Given the description of an element on the screen output the (x, y) to click on. 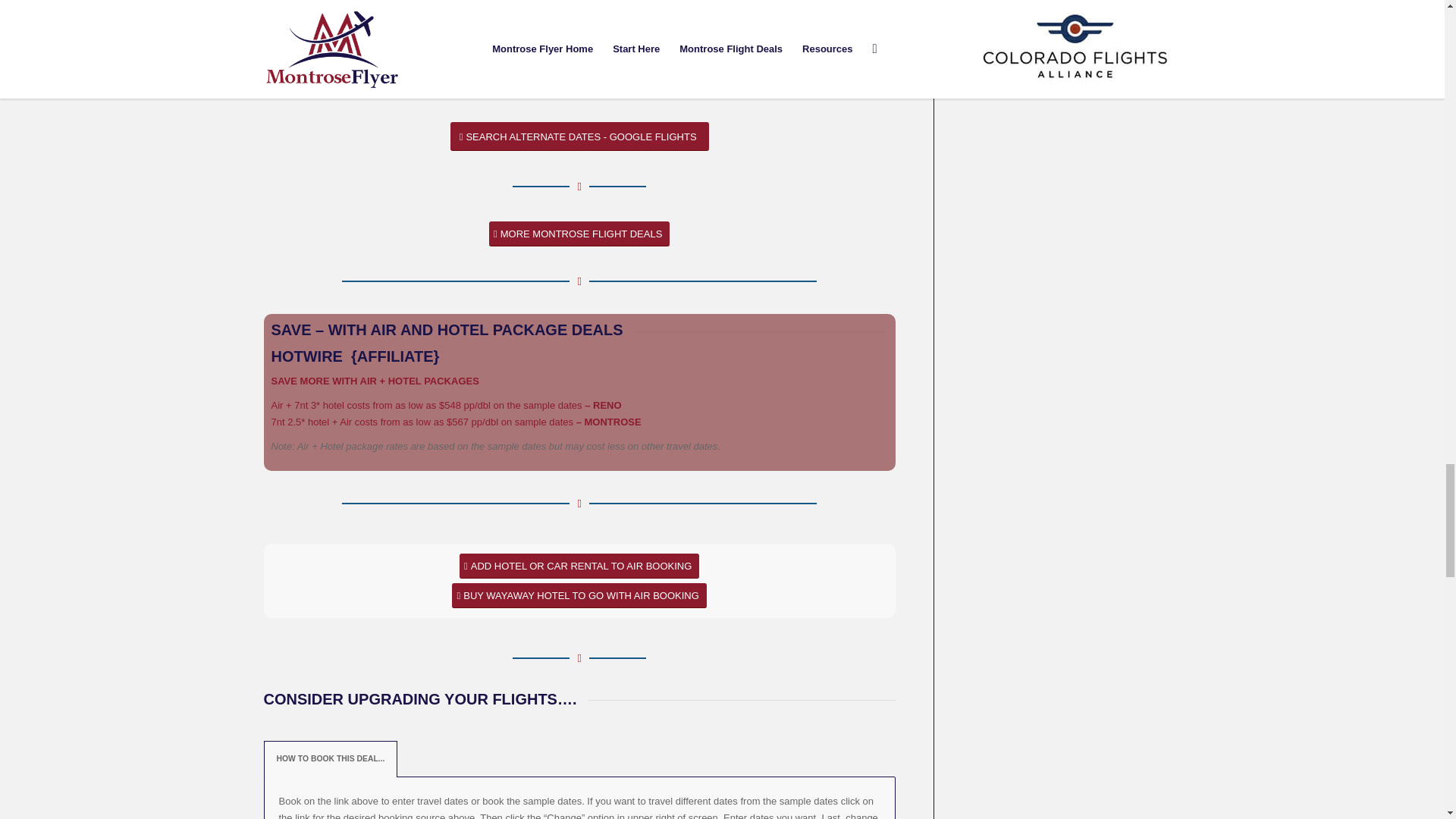
UNITED PURCHASE (802, 32)
SEARCH ALTERNATE DATES - GOOGLE FLIGHTS (579, 136)
BUY WAYAWAY HOTEL TO GO WITH AIR BOOKING (578, 595)
ADD HOTEL OR CAR RENTAL TO AIR BOOKING (579, 565)
MORE MONTROSE FLIGHT DEALS (579, 233)
